Given the description of an element on the screen output the (x, y) to click on. 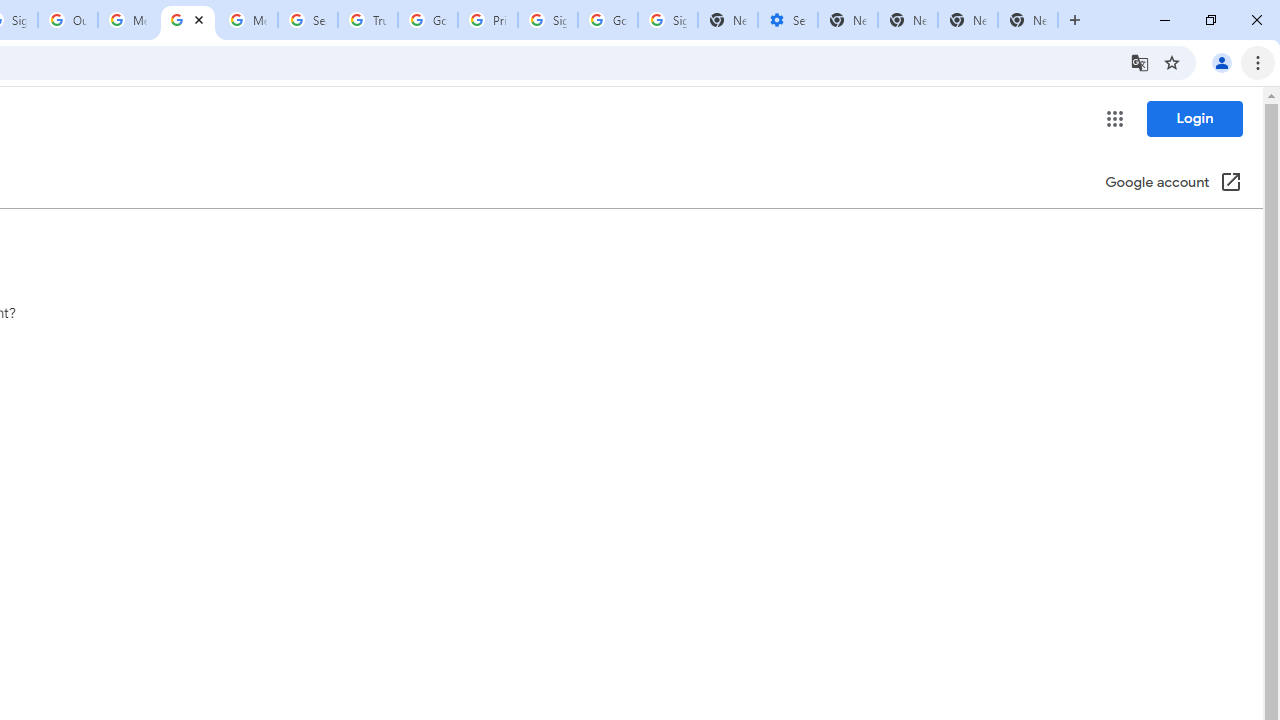
Sign in - Google Accounts (667, 20)
Google Ads - Sign in (428, 20)
Google Account (Opens in new window) (1173, 183)
Settings - Performance (787, 20)
Search our Doodle Library Collection - Google Doodles (307, 20)
Google apps (1114, 118)
